Given the description of an element on the screen output the (x, y) to click on. 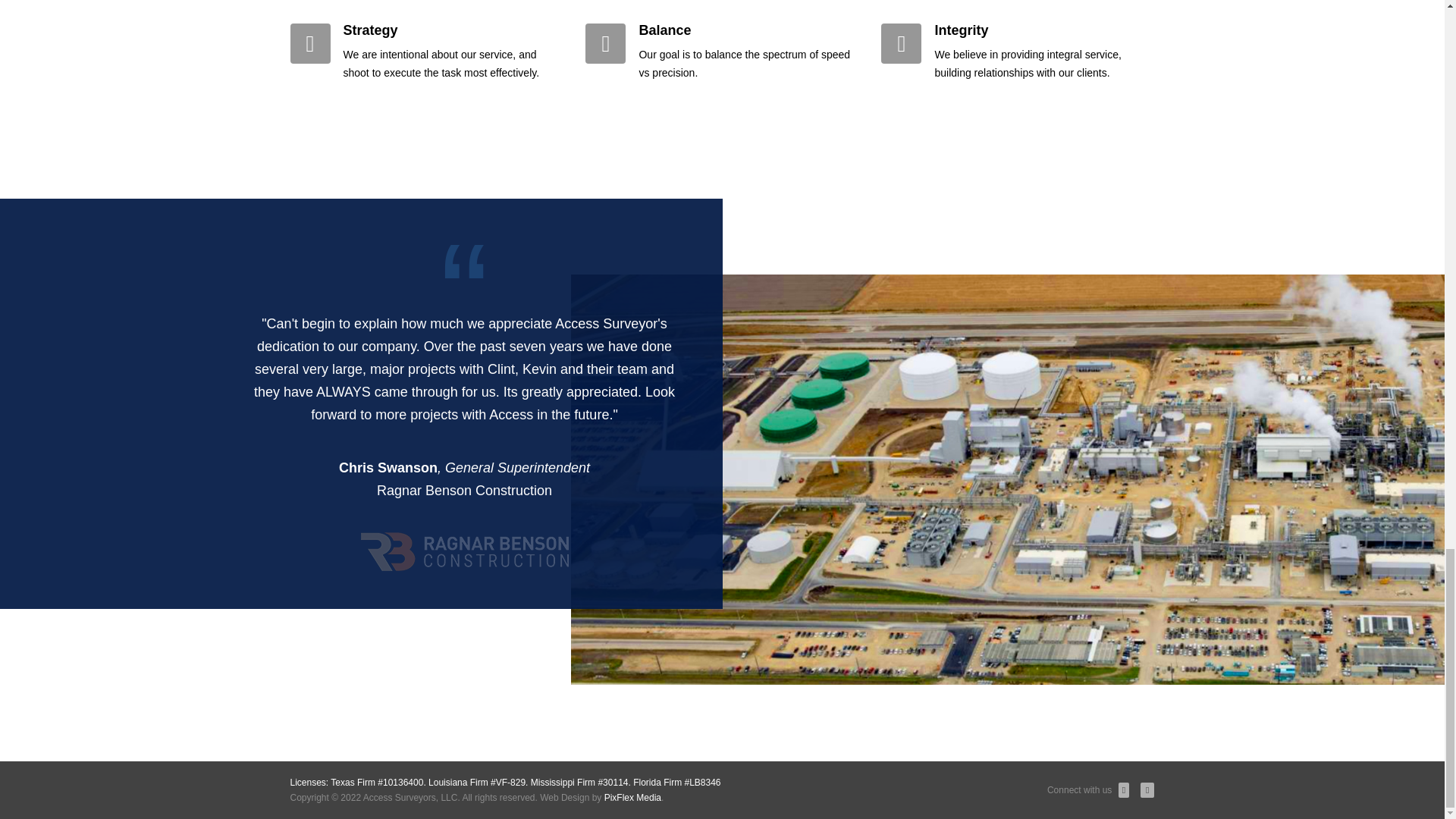
PixFlex Media (632, 797)
